Given the description of an element on the screen output the (x, y) to click on. 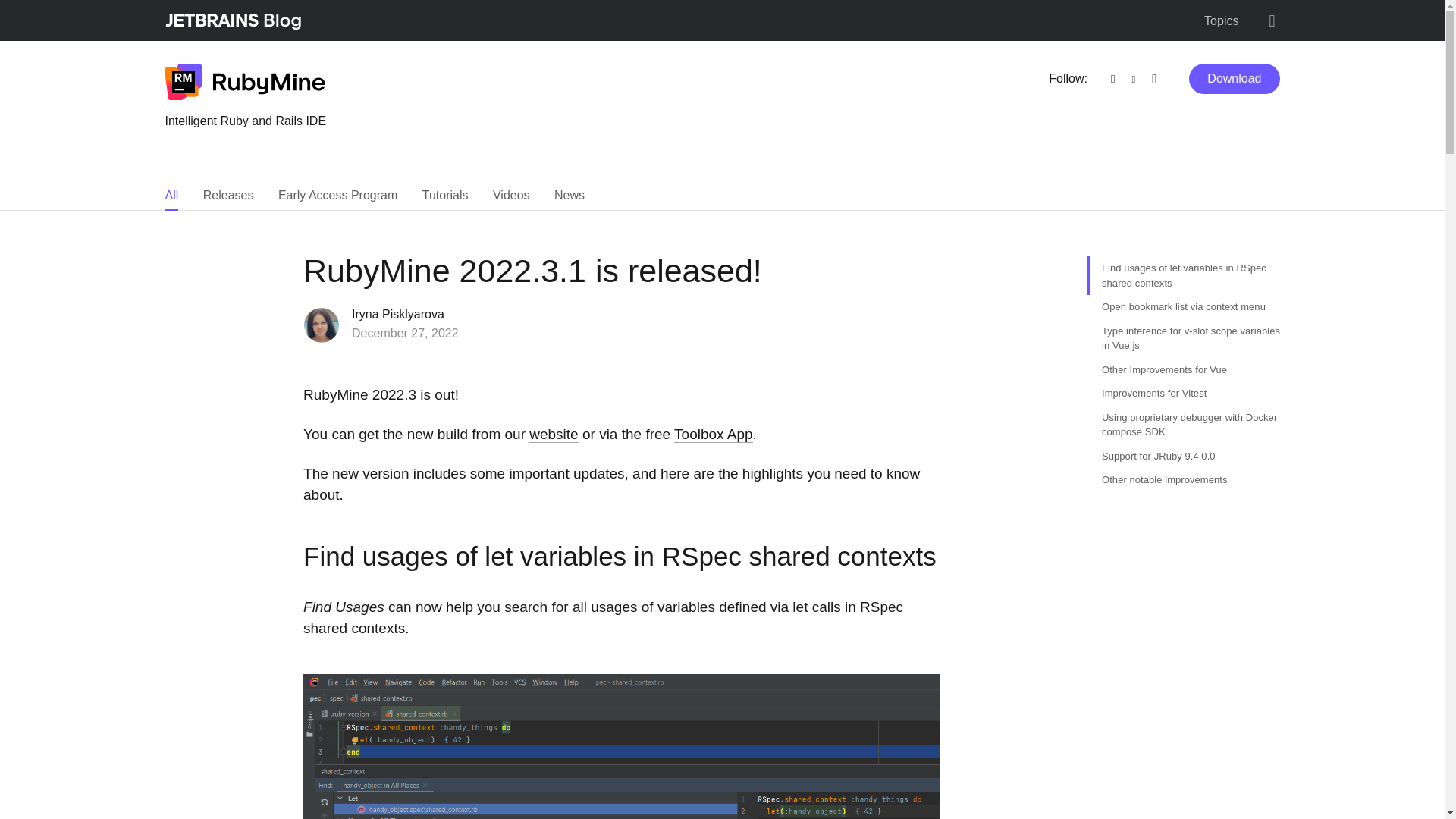
Topics (1221, 21)
